Given the description of an element on the screen output the (x, y) to click on. 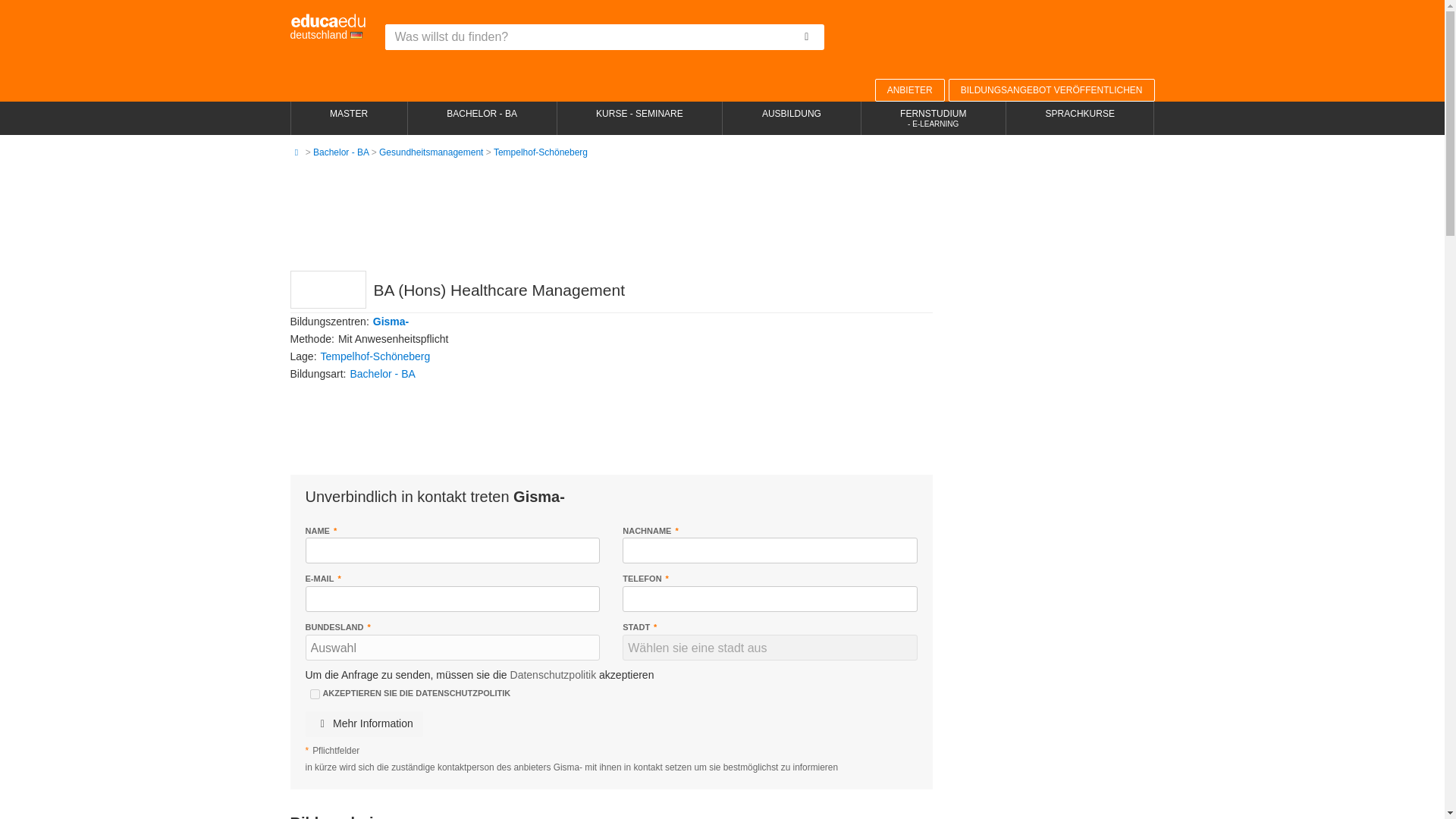
Gesundheitsmanagement (430, 152)
on (313, 694)
AUSBILDUNG (791, 118)
Bachelor - BA (481, 118)
Educaedu Deutschland (328, 26)
Kurse - Seminare (639, 118)
Bachelor - BA (340, 152)
Mehr Information (363, 724)
Bachelor - BA (381, 373)
Sprachkurse (1080, 118)
Home (295, 152)
SPRACHKURSE (1080, 118)
deutschland (328, 26)
Bachelor - BA (340, 152)
KURSE - SEMINARE (639, 118)
